Given the description of an element on the screen output the (x, y) to click on. 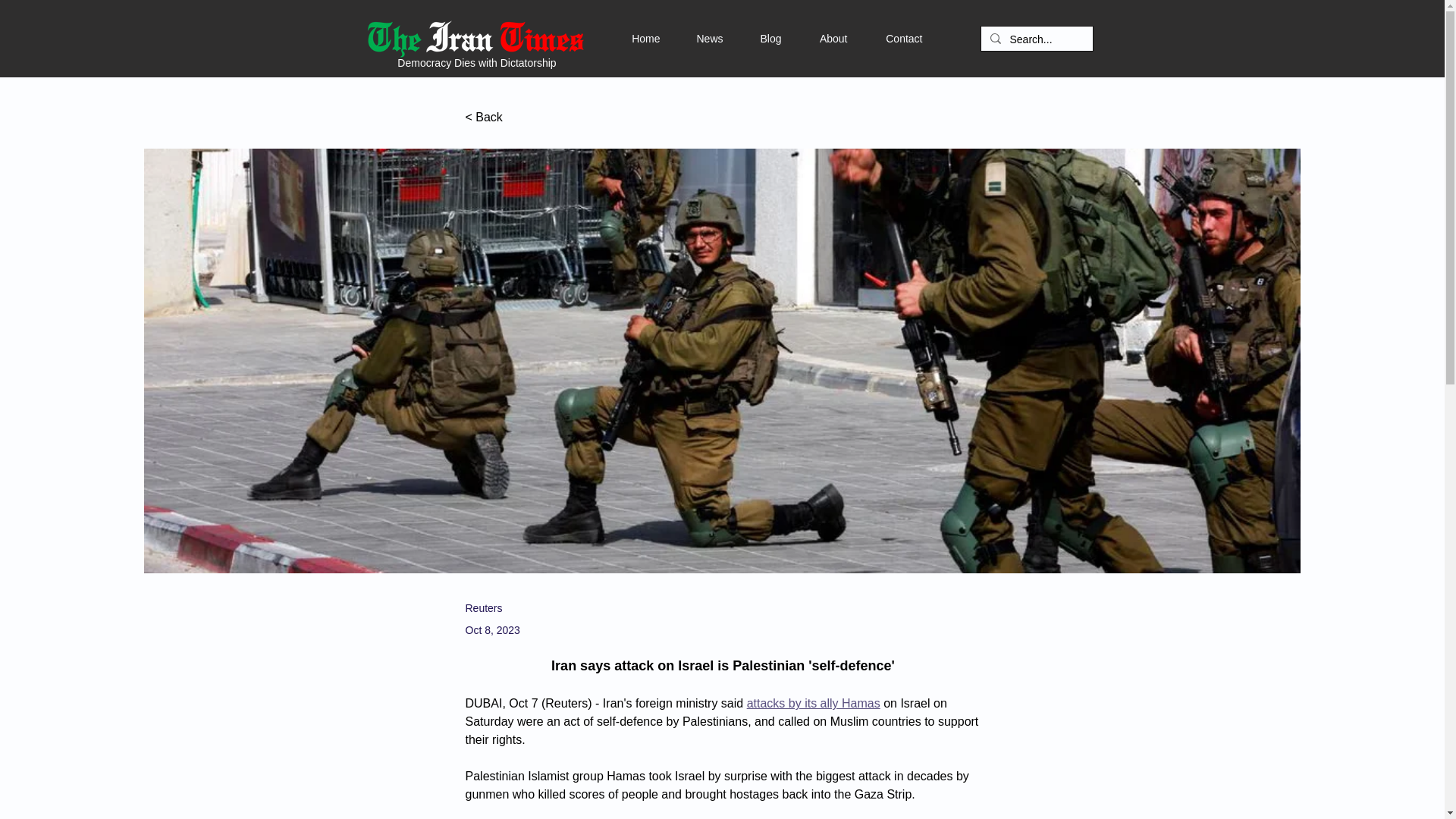
Contact (885, 38)
Home (628, 38)
attacks by its ally Hamas (813, 703)
About (813, 38)
News (690, 38)
Blog (752, 38)
